Given the description of an element on the screen output the (x, y) to click on. 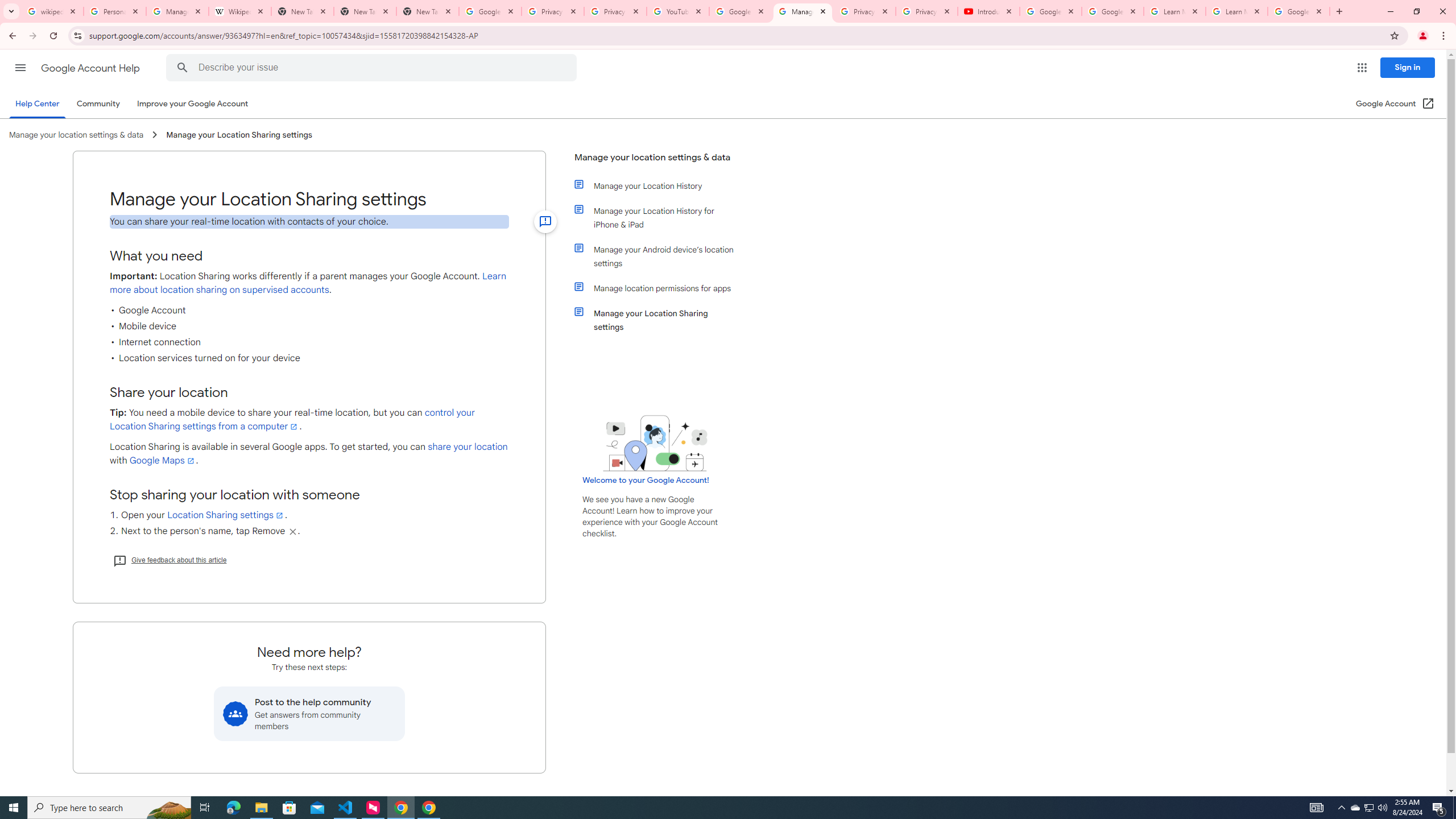
Give feedback about this article (169, 559)
Google Account Help (740, 11)
Google Drive: Sign-in (490, 11)
Improve your Google Account (192, 103)
Google Account Help (1050, 11)
Manage your location settings & data (656, 161)
Welcome to your Google Account! (645, 479)
